Given the description of an element on the screen output the (x, y) to click on. 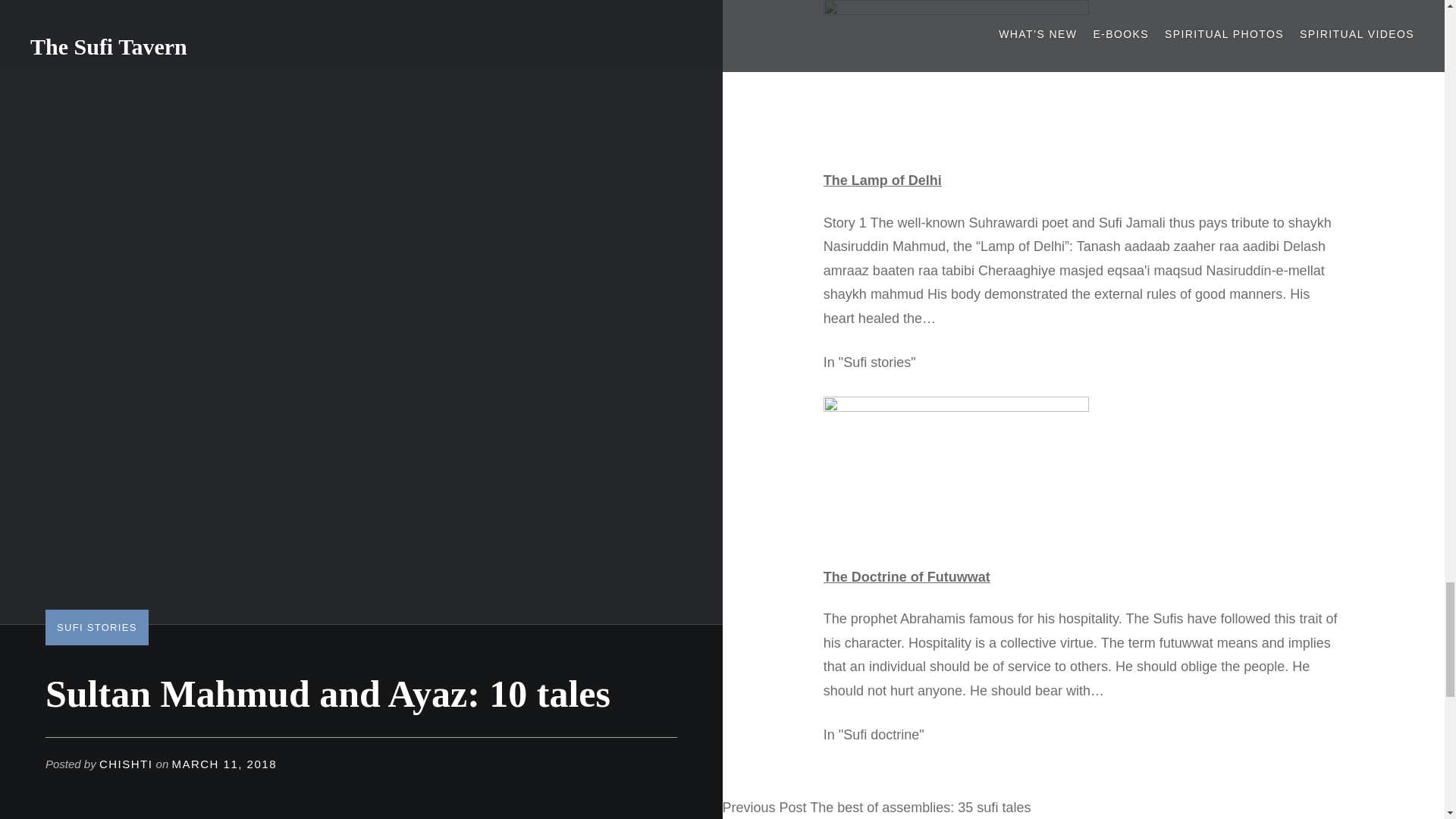
The Lamp of Delhi (956, 10)
The Lamp of Delhi (883, 180)
The Doctrine of Futuwwat (907, 576)
The Doctrine of Futuwwat (956, 406)
The Doctrine of Futuwwat (907, 576)
The Lamp of Delhi (883, 180)
